Given the description of an element on the screen output the (x, y) to click on. 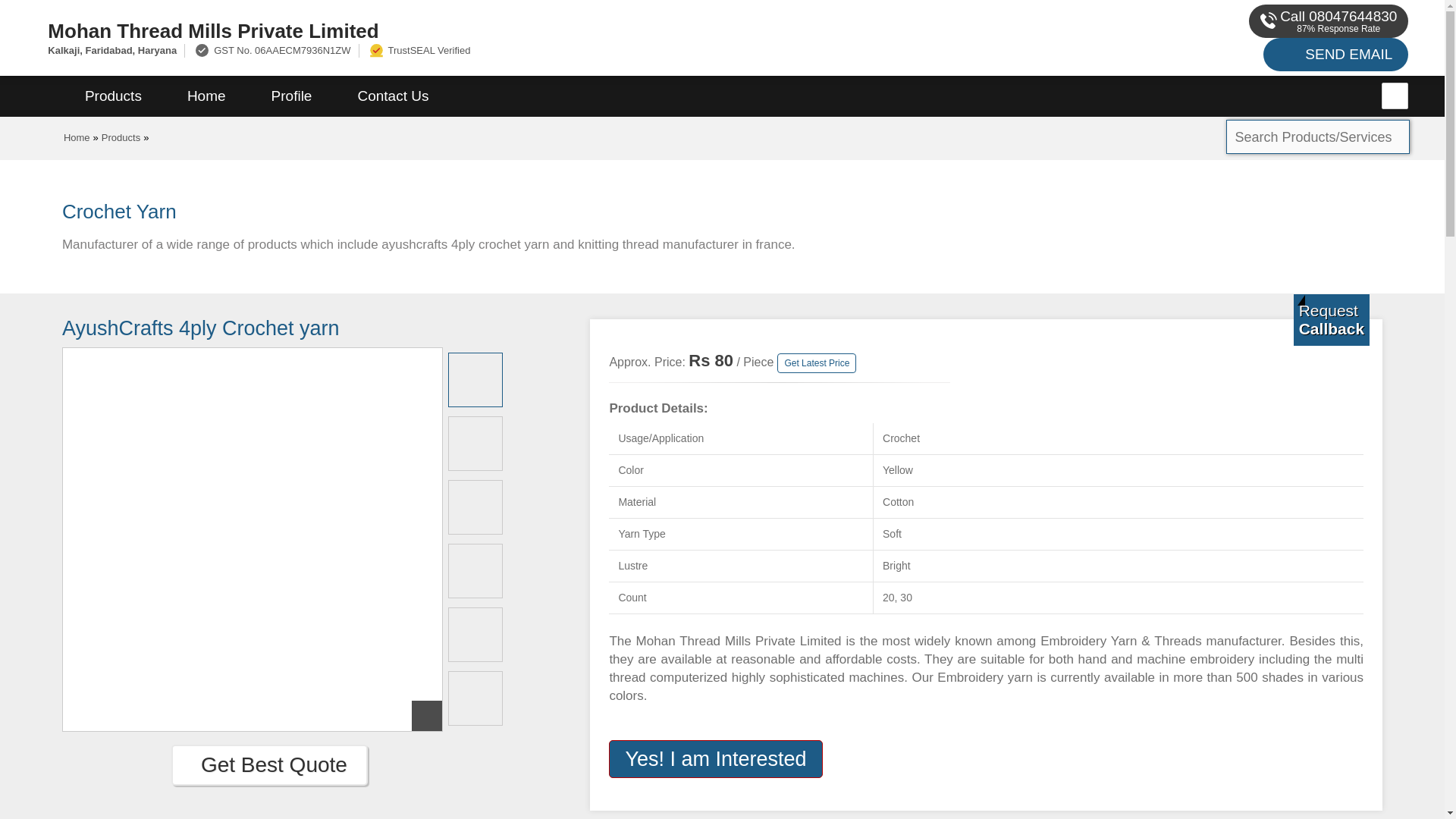
Products (113, 96)
Home (77, 137)
Home (206, 96)
Mohan Thread Mills Private Limited (485, 31)
Profile (291, 96)
Get a Call from us (1332, 319)
Products (120, 137)
Contact Us (392, 96)
